Given the description of an element on the screen output the (x, y) to click on. 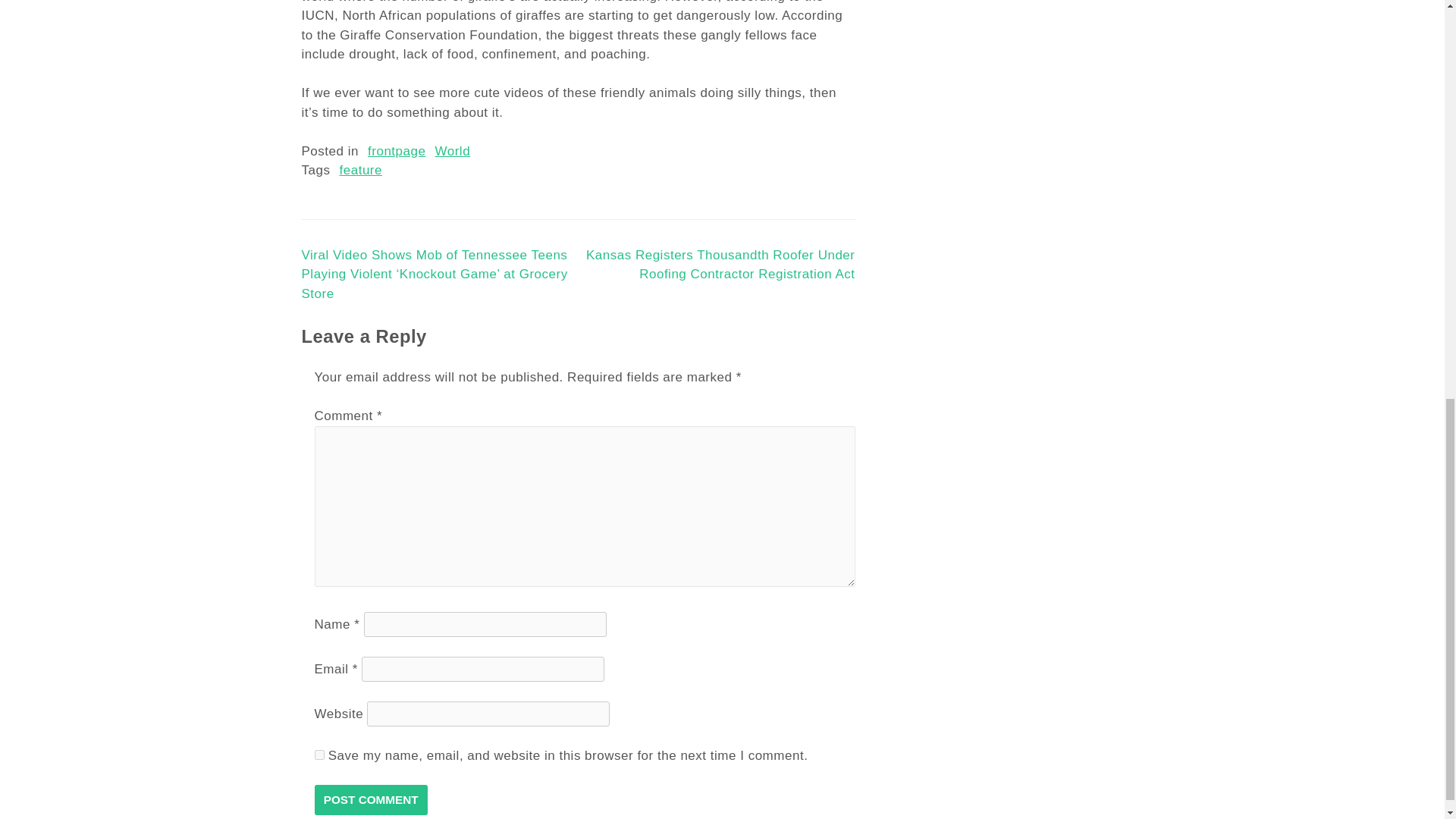
World (451, 151)
Post Comment (370, 799)
feature (360, 169)
Post Comment (370, 799)
yes (318, 755)
frontpage (396, 151)
